Given the description of an element on the screen output the (x, y) to click on. 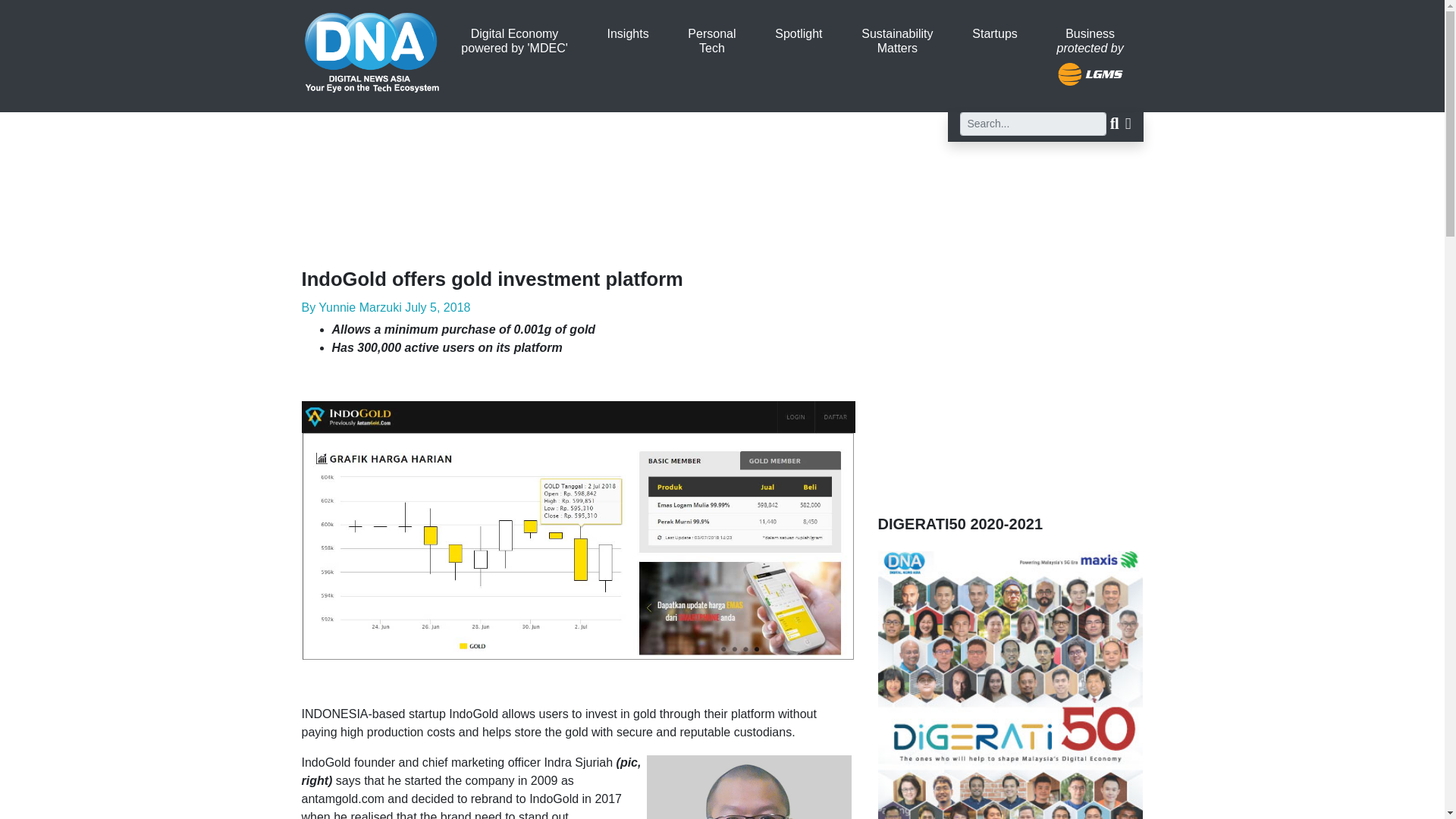
Home (371, 44)
Insights (628, 33)
